Given the description of an element on the screen output the (x, y) to click on. 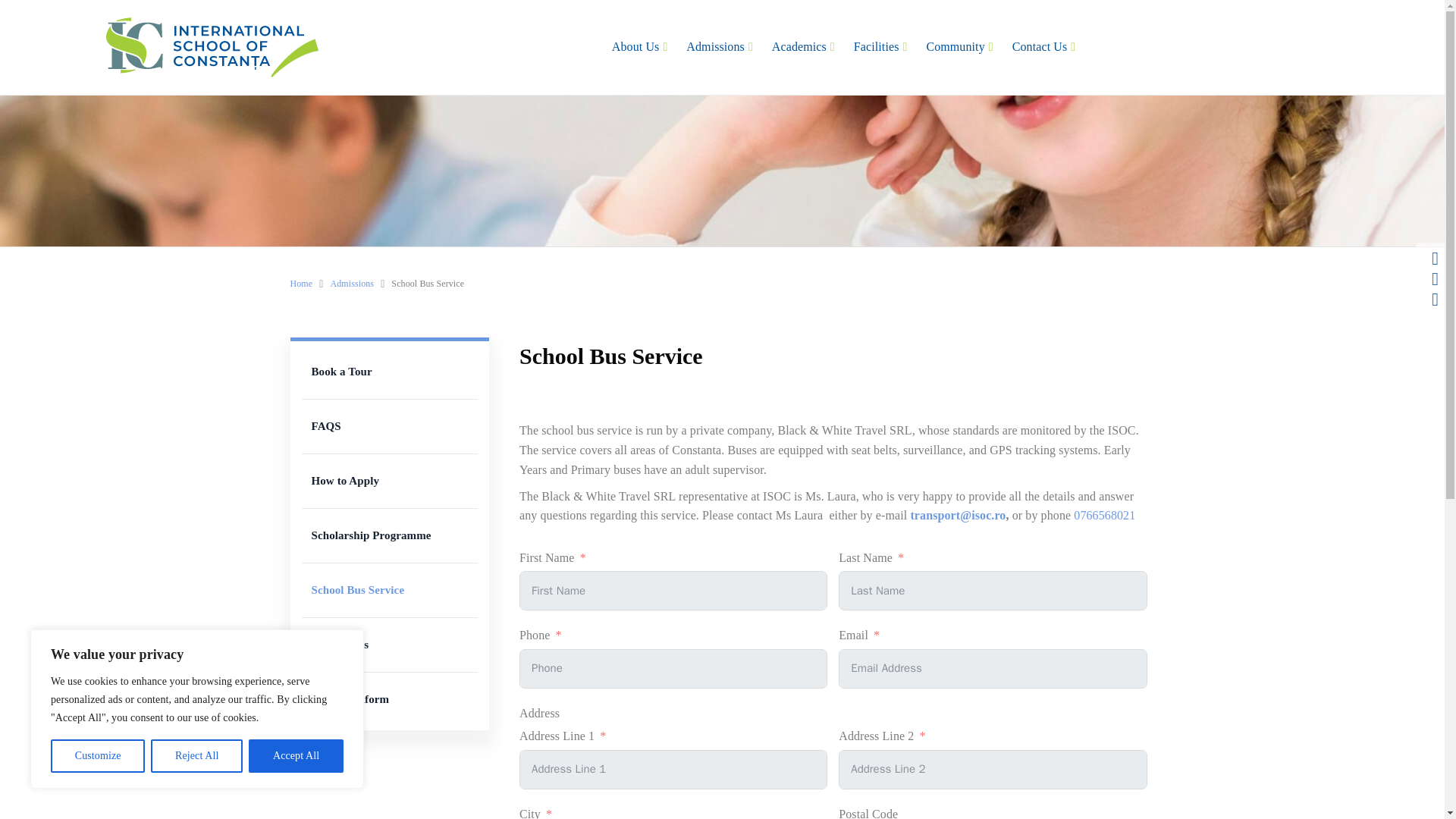
Reject All (197, 756)
Accept All (295, 756)
Customize (97, 756)
